Given the description of an element on the screen output the (x, y) to click on. 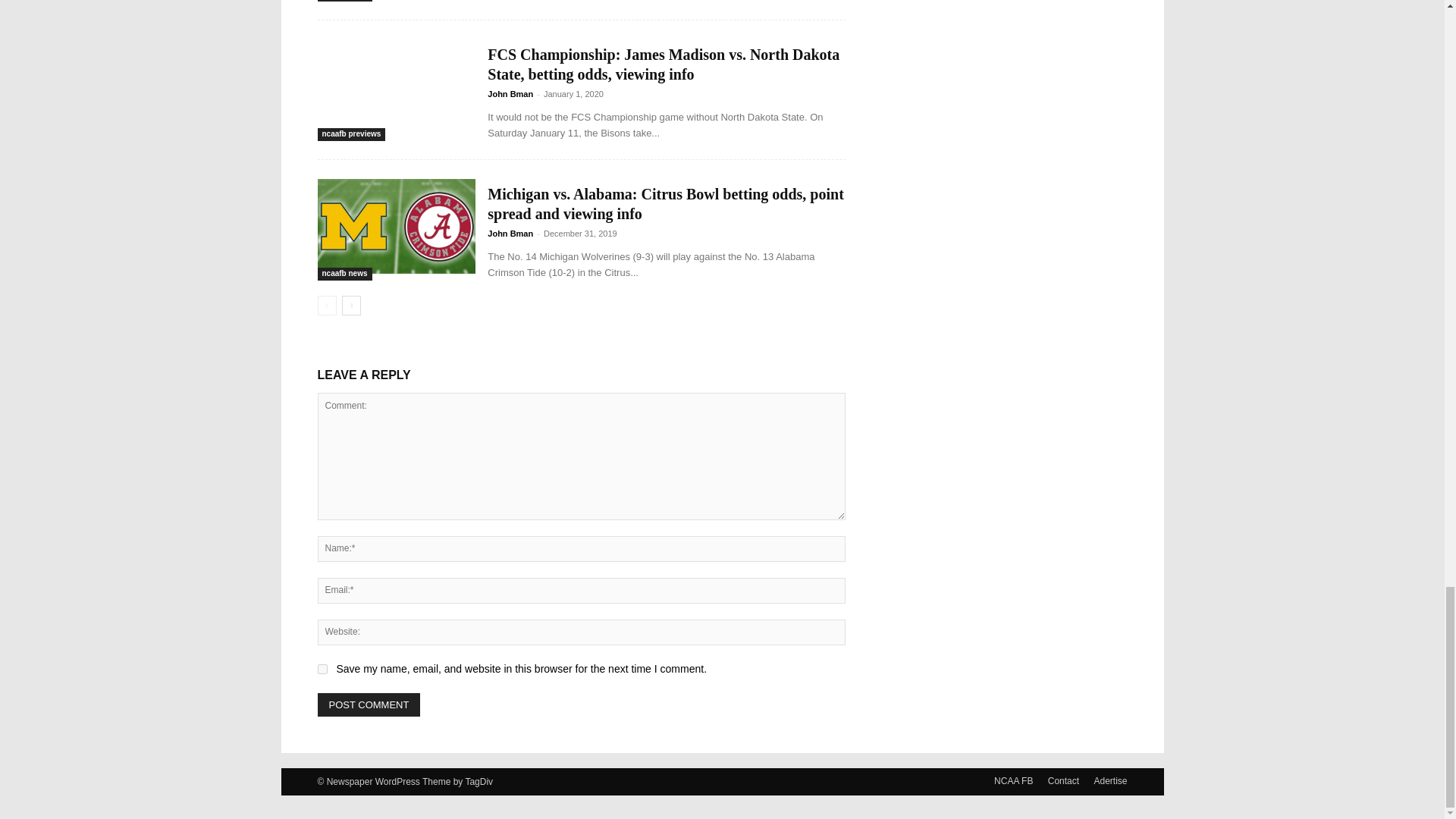
Post Comment (368, 704)
yes (321, 669)
